Given the description of an element on the screen output the (x, y) to click on. 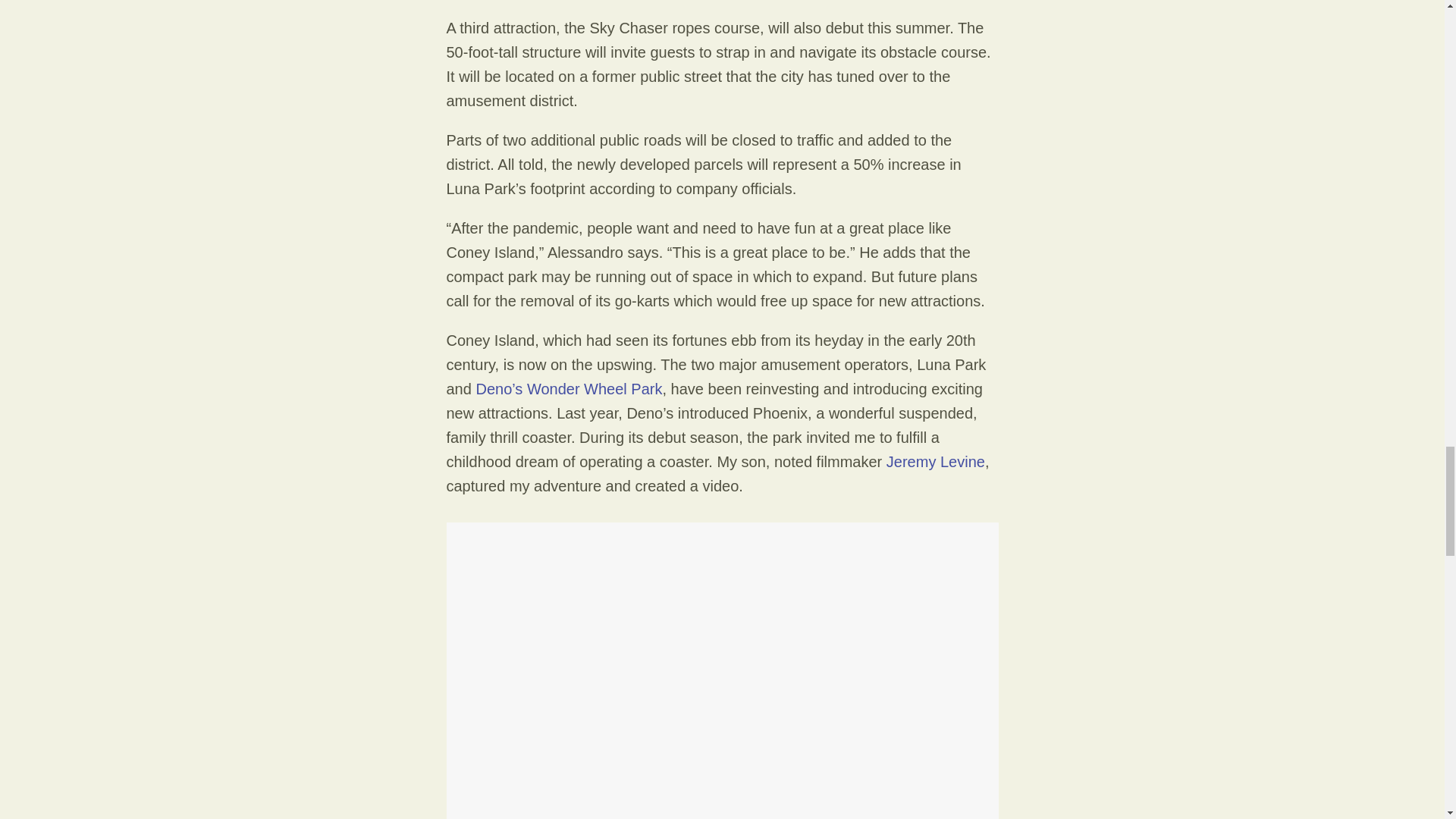
Jeremy Levine (935, 461)
